Given the description of an element on the screen output the (x, y) to click on. 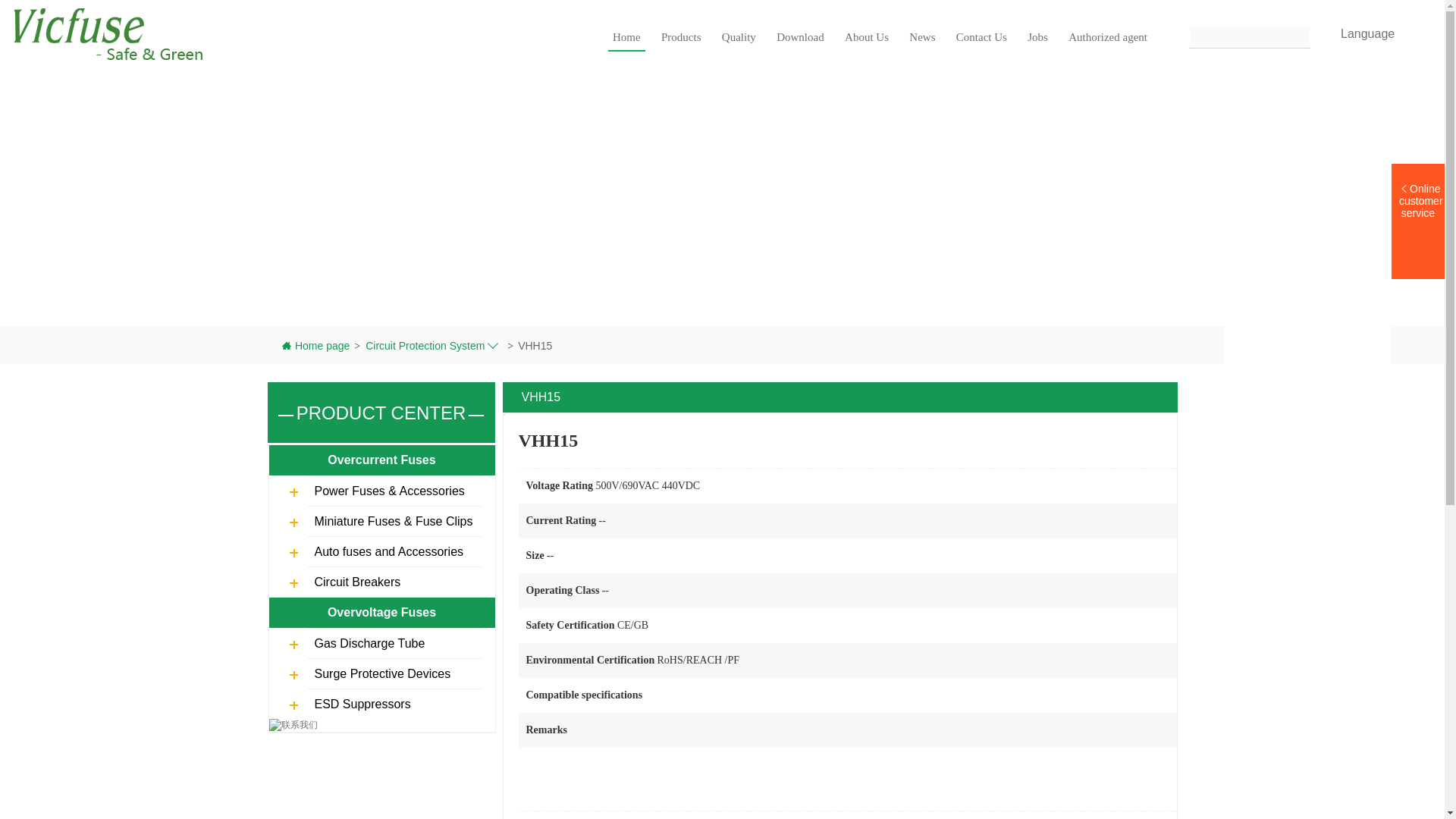
Quality (738, 37)
Products (681, 37)
Home page (315, 345)
About Us (866, 37)
Contact Us (981, 37)
News (921, 37)
Download (799, 37)
logo (108, 33)
Circuit Protection System (433, 345)
Jobs (1037, 37)
Home (626, 37)
Authorized agent (1107, 37)
